Given the description of an element on the screen output the (x, y) to click on. 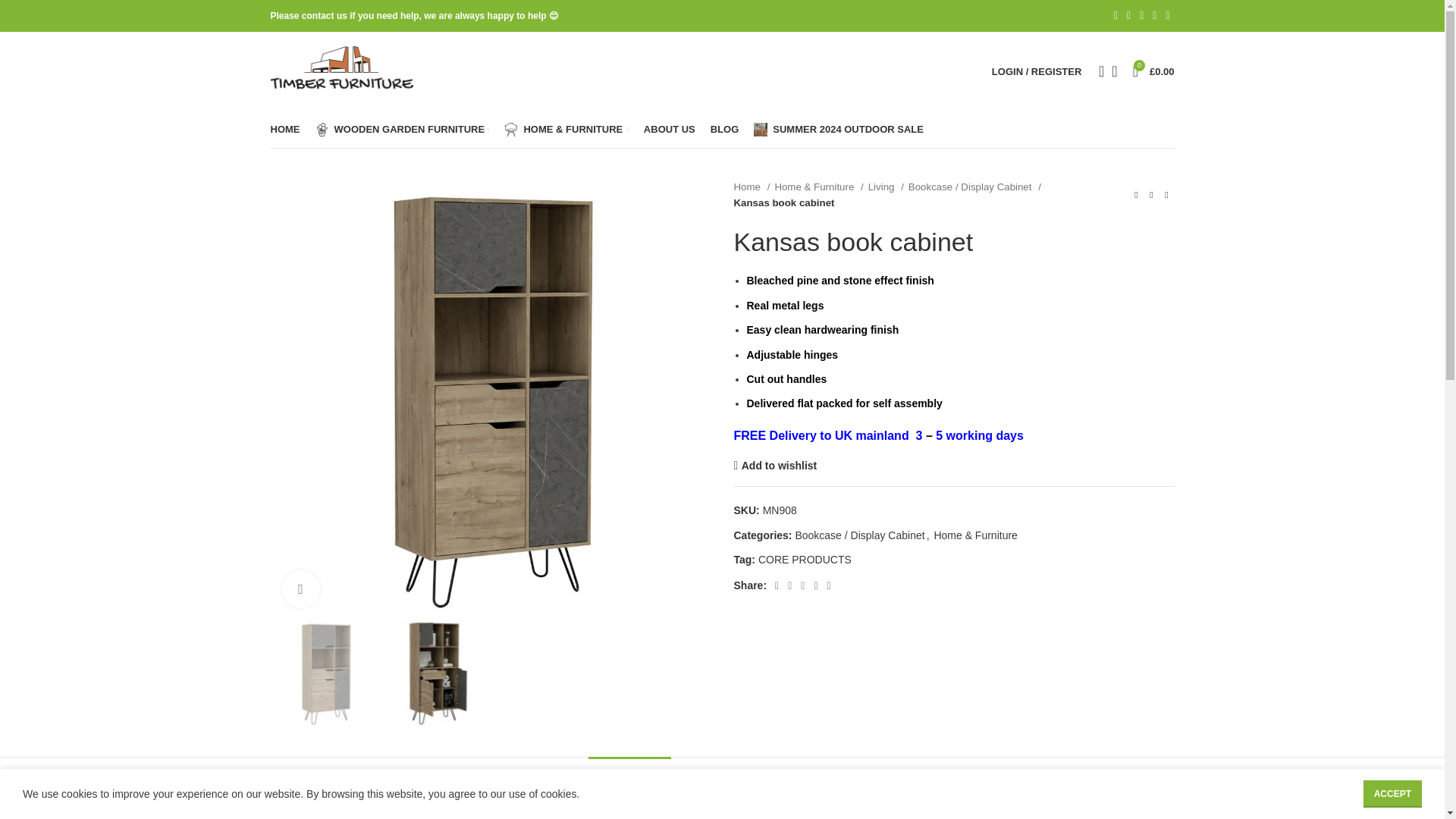
004-furniture (510, 129)
My account (1036, 71)
Shopping cart (1153, 71)
flower-1 (322, 129)
HOME (284, 128)
WOODEN GARDEN FURNITURE (402, 128)
Log in (956, 312)
